Given the description of an element on the screen output the (x, y) to click on. 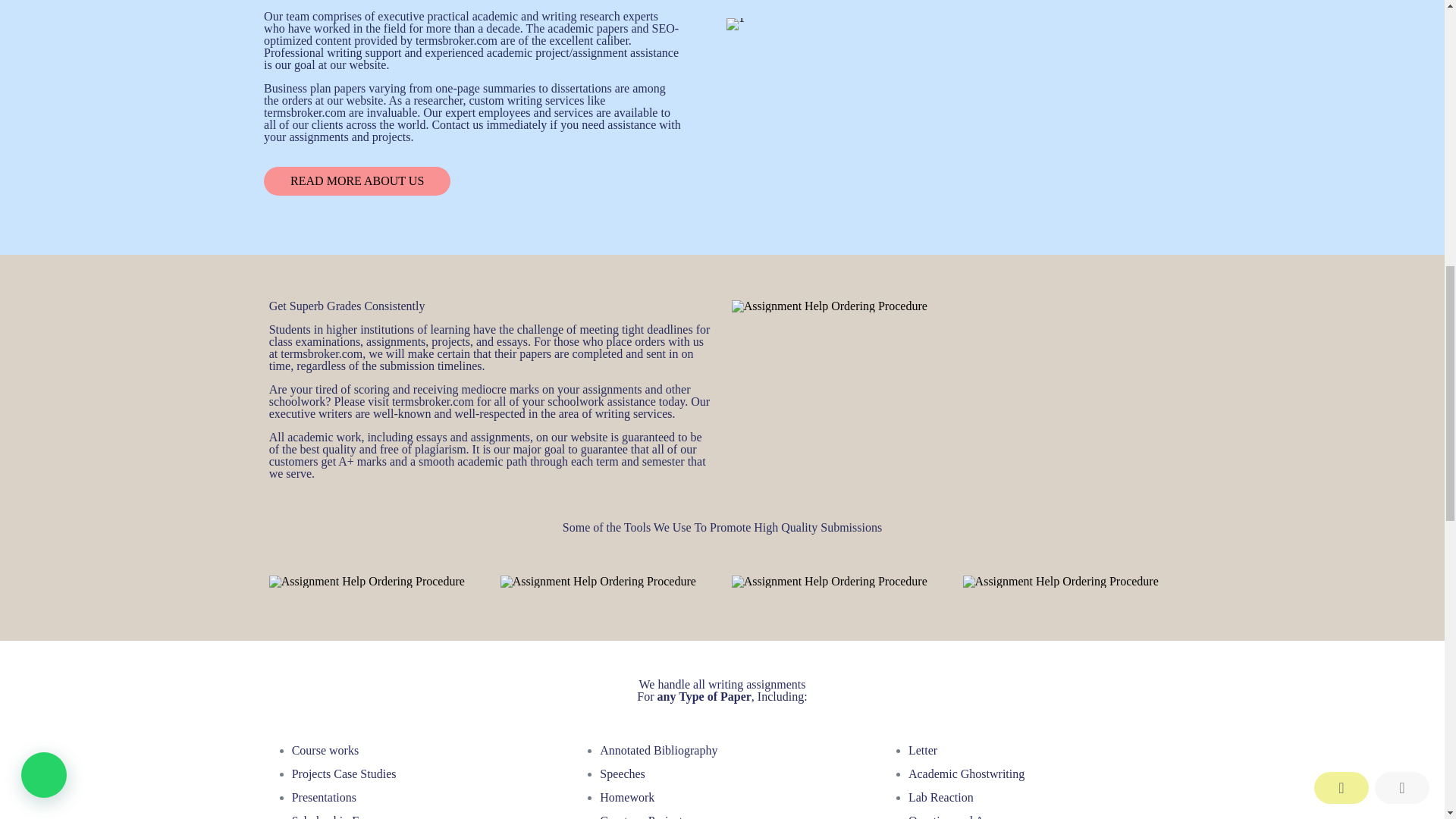
READ MORE ABOUT US (356, 181)
1 (735, 24)
